Given the description of an element on the screen output the (x, y) to click on. 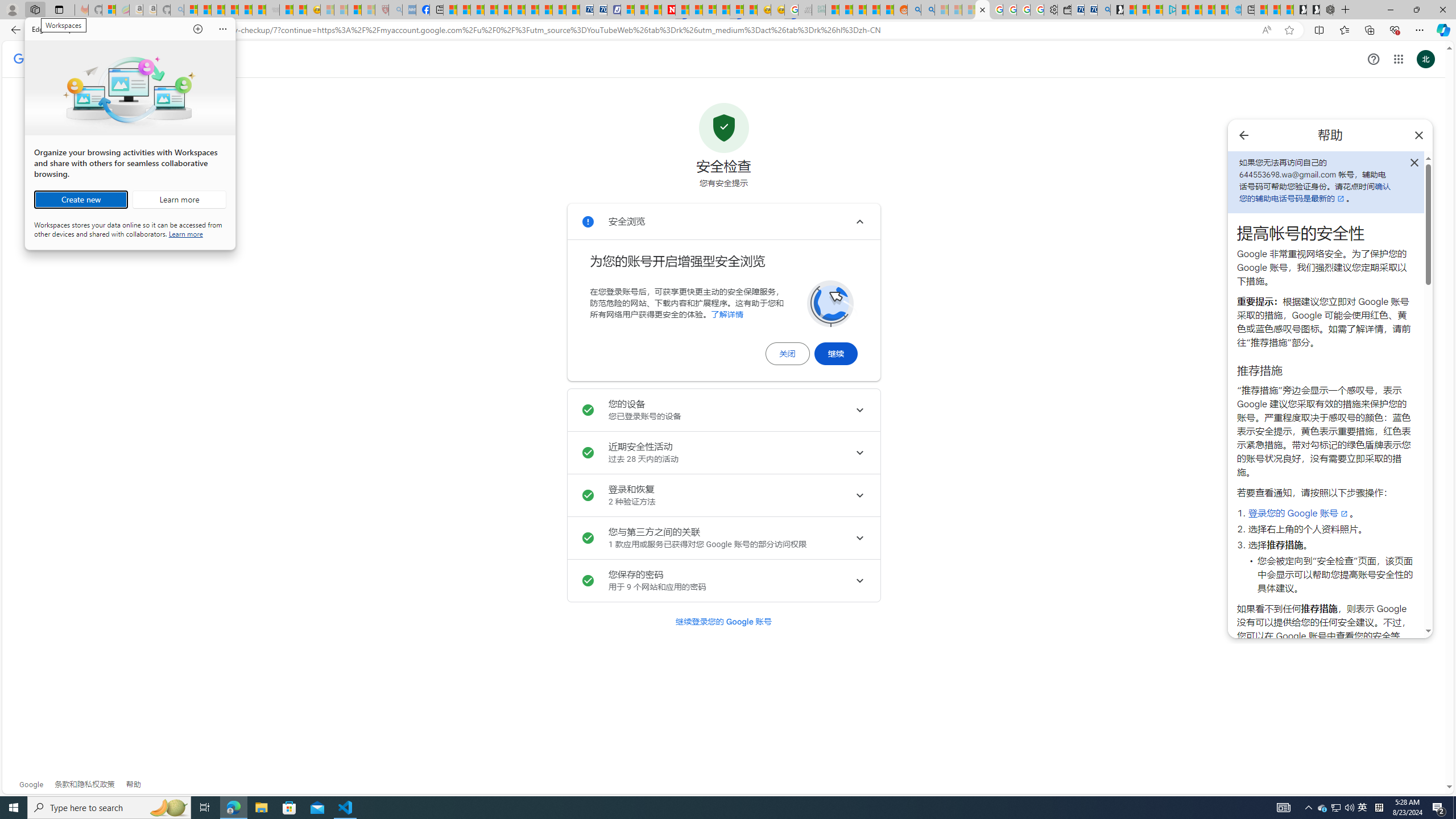
Running applications (700, 807)
Combat Siege - Sleeping (271, 9)
Q2790: 100% (1349, 807)
Newsweek - News, Analysis, Politics, Business, Technology (667, 9)
Task View (204, 807)
Play Free Online Games | Games from Microsoft Start (1312, 9)
